Given the description of an element on the screen output the (x, y) to click on. 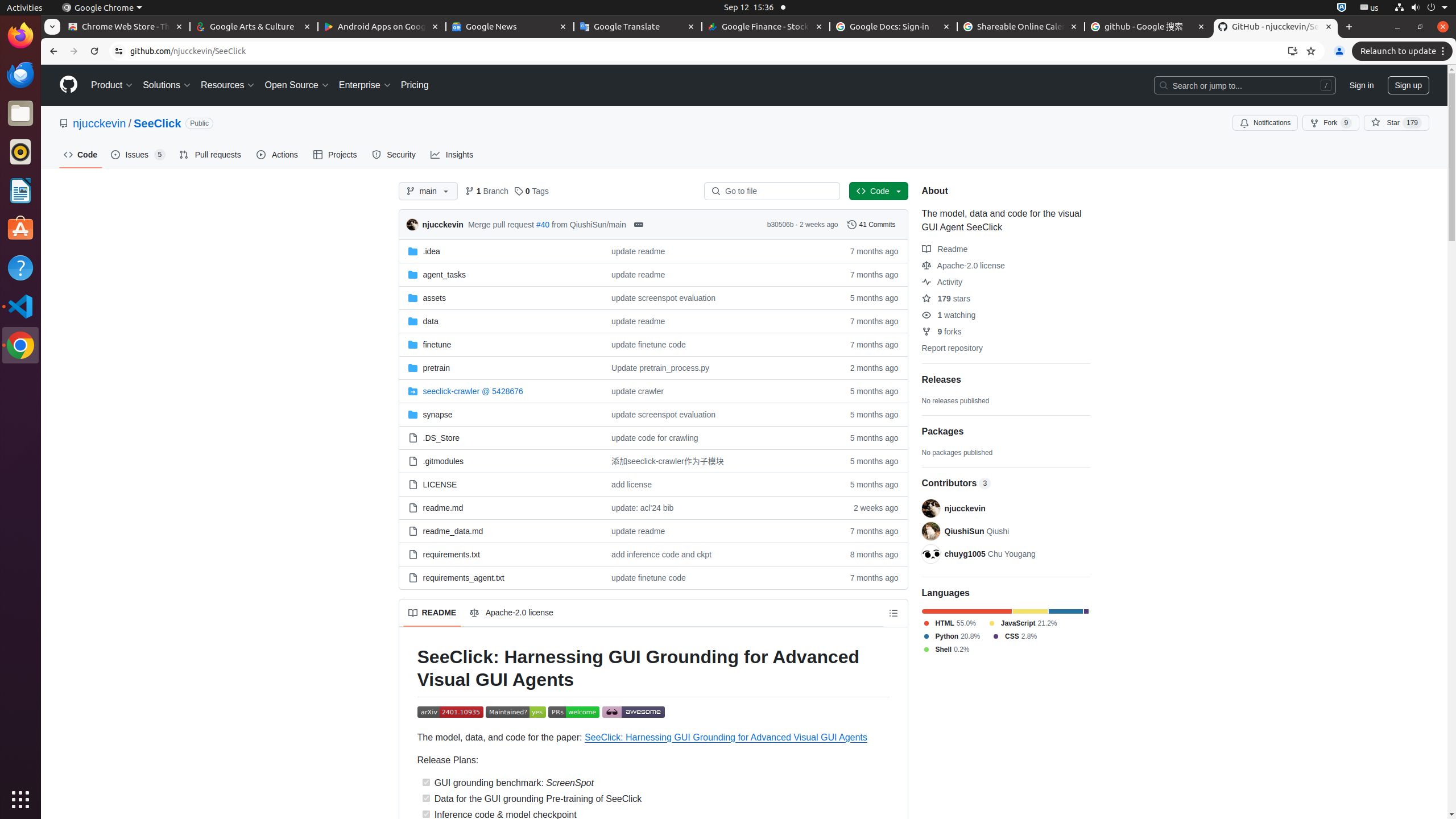
update crawler Element type: table-cell (716, 390)
9 forks Element type: link (941, 331)
JavaScript 21.2% Element type: link (1021, 623)
Enterprise Element type: push-button (364, 84)
Code Element type: link (80, 154)
